Given the description of an element on the screen output the (x, y) to click on. 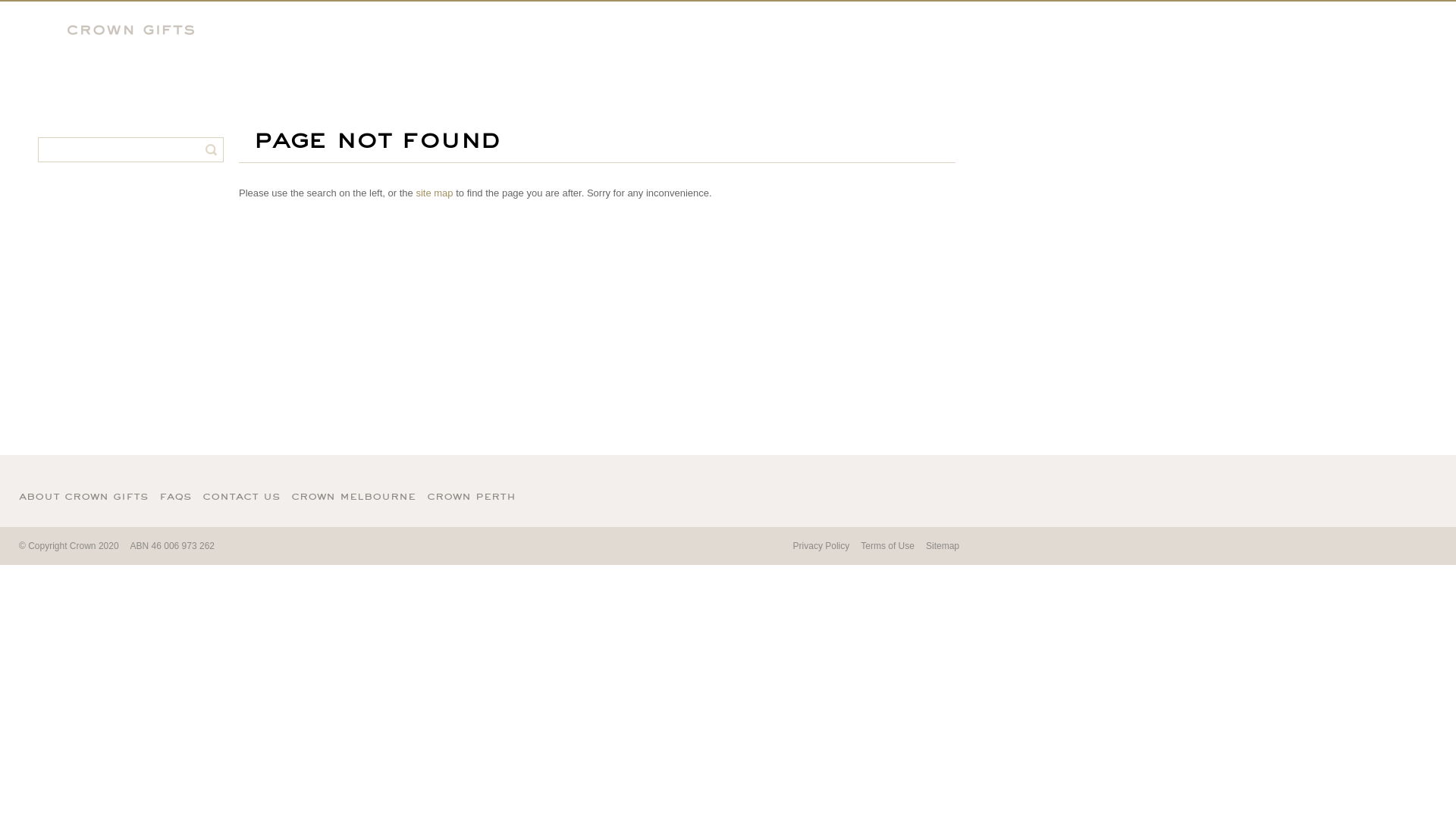
ABOUT CROWN GIFTS Element type: text (82, 496)
site map Element type: text (433, 192)
CONTACT US Element type: text (240, 496)
CROWN PERTH Element type: text (470, 496)
FAQS Element type: text (175, 496)
CROWN MELBOURNE Element type: text (353, 496)
Privacy Policy Element type: text (821, 545)
Terms of Use Element type: text (887, 545)
Sitemap Element type: text (942, 545)
Search Element type: text (210, 149)
